Given the description of an element on the screen output the (x, y) to click on. 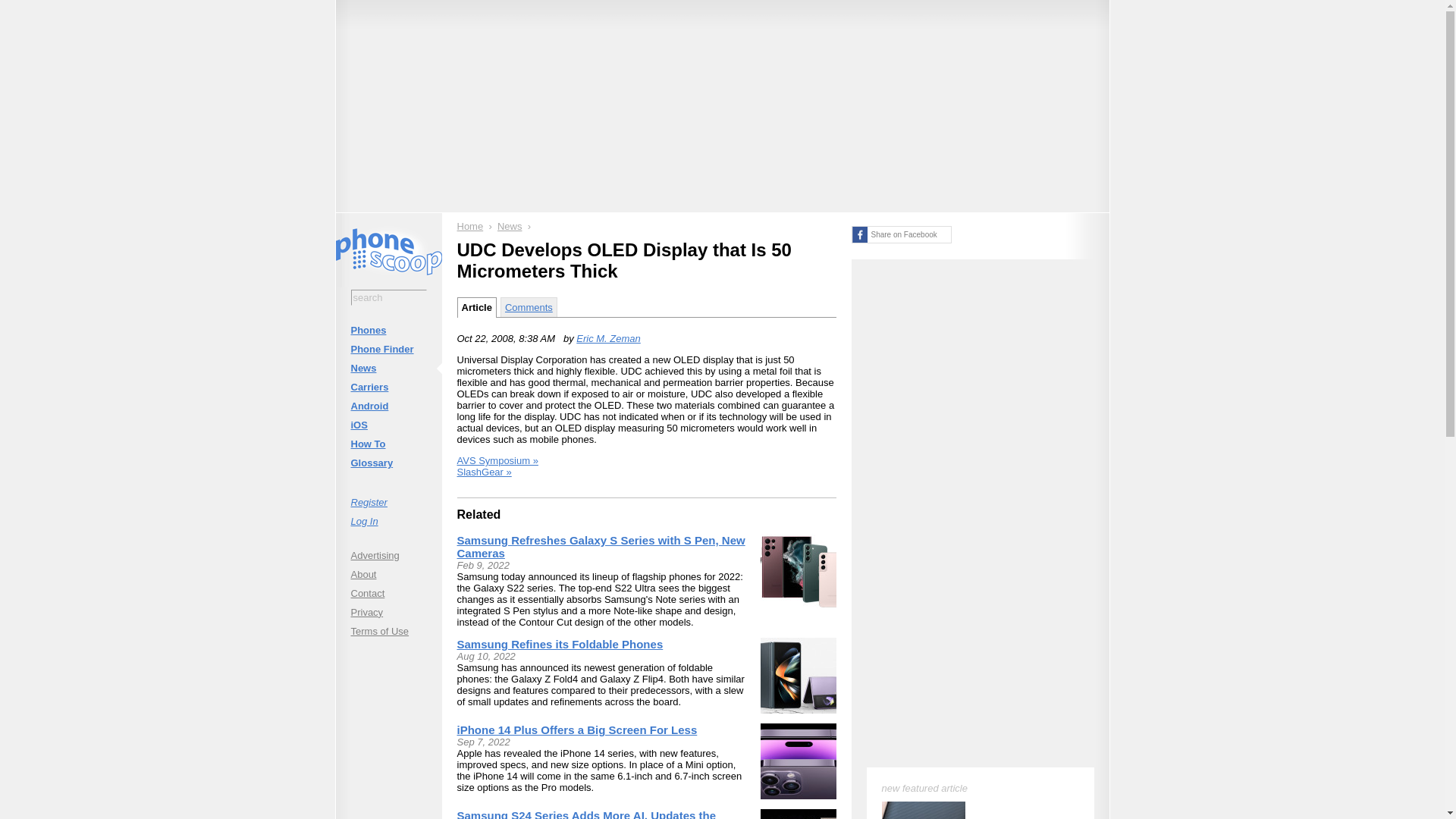
News (509, 225)
Home (470, 225)
Android (387, 405)
News (387, 367)
Terms of Use (387, 630)
Phone Finder (387, 348)
Log In (387, 520)
Phones (387, 330)
Eric M. Zeman (608, 337)
iOS (387, 424)
